Given the description of an element on the screen output the (x, y) to click on. 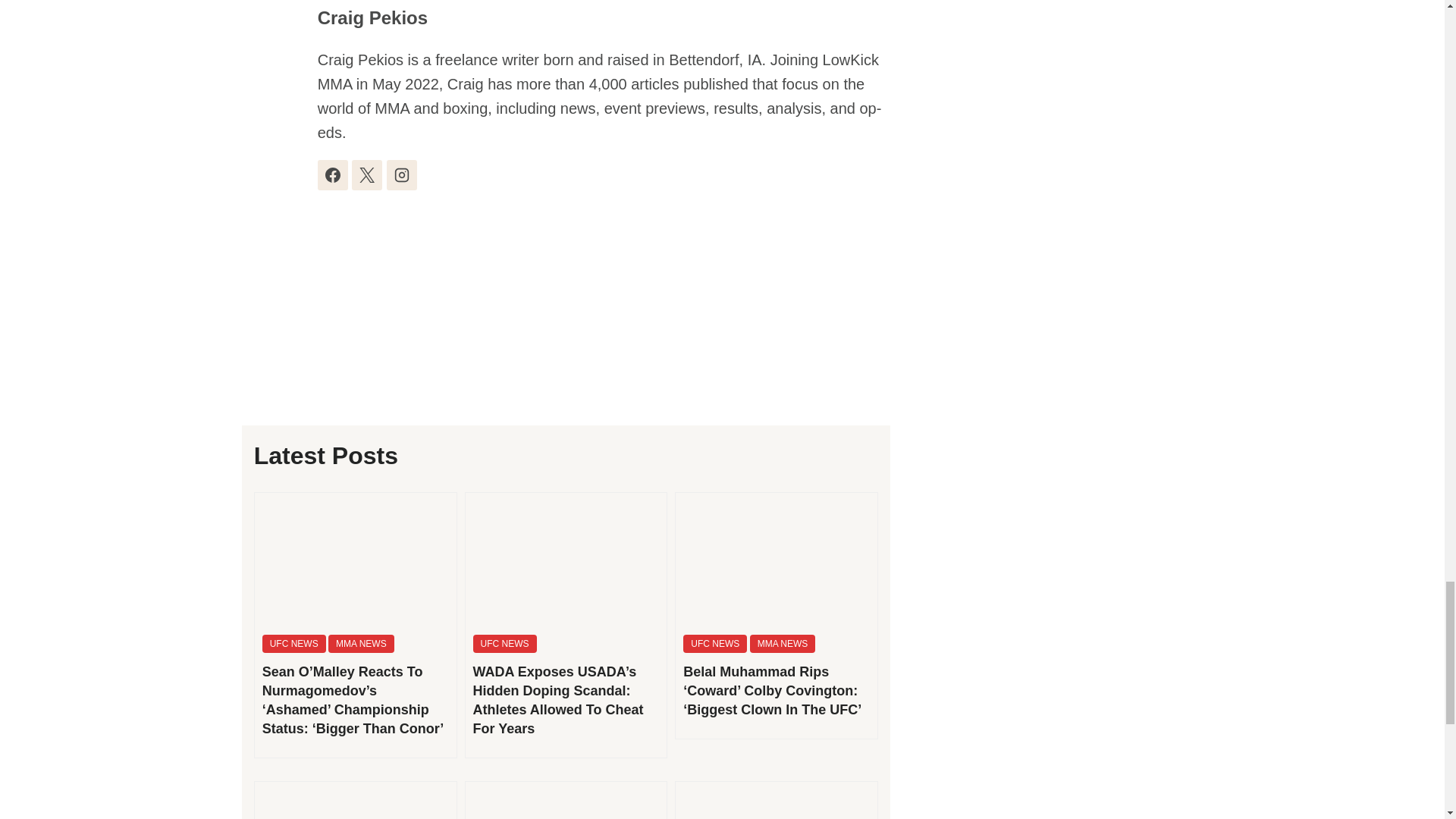
Follow Craig Pekios on Facebook (332, 174)
Follow Craig Pekios on X formerly Twitter (366, 174)
Posts by Craig Pekios (372, 17)
Follow Craig Pekios on Instagram (401, 174)
